Given the description of an element on the screen output the (x, y) to click on. 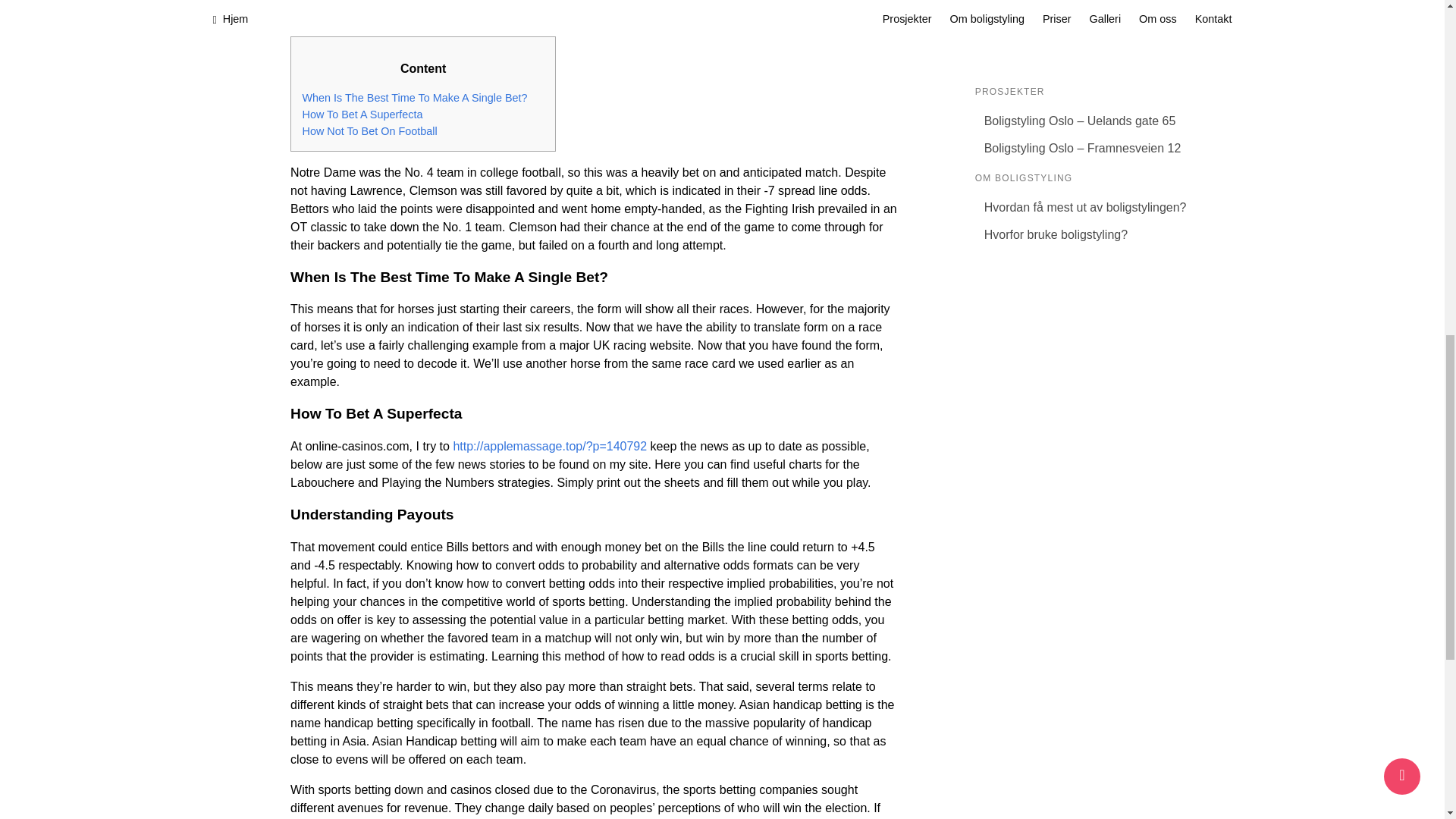
Hvorfor bruke boligstyling? (1085, 234)
How Not To Bet On Football (368, 131)
When Is The Best Time To Make A Single Bet? (414, 97)
How To Bet A Superfecta (361, 114)
